Given the description of an element on the screen output the (x, y) to click on. 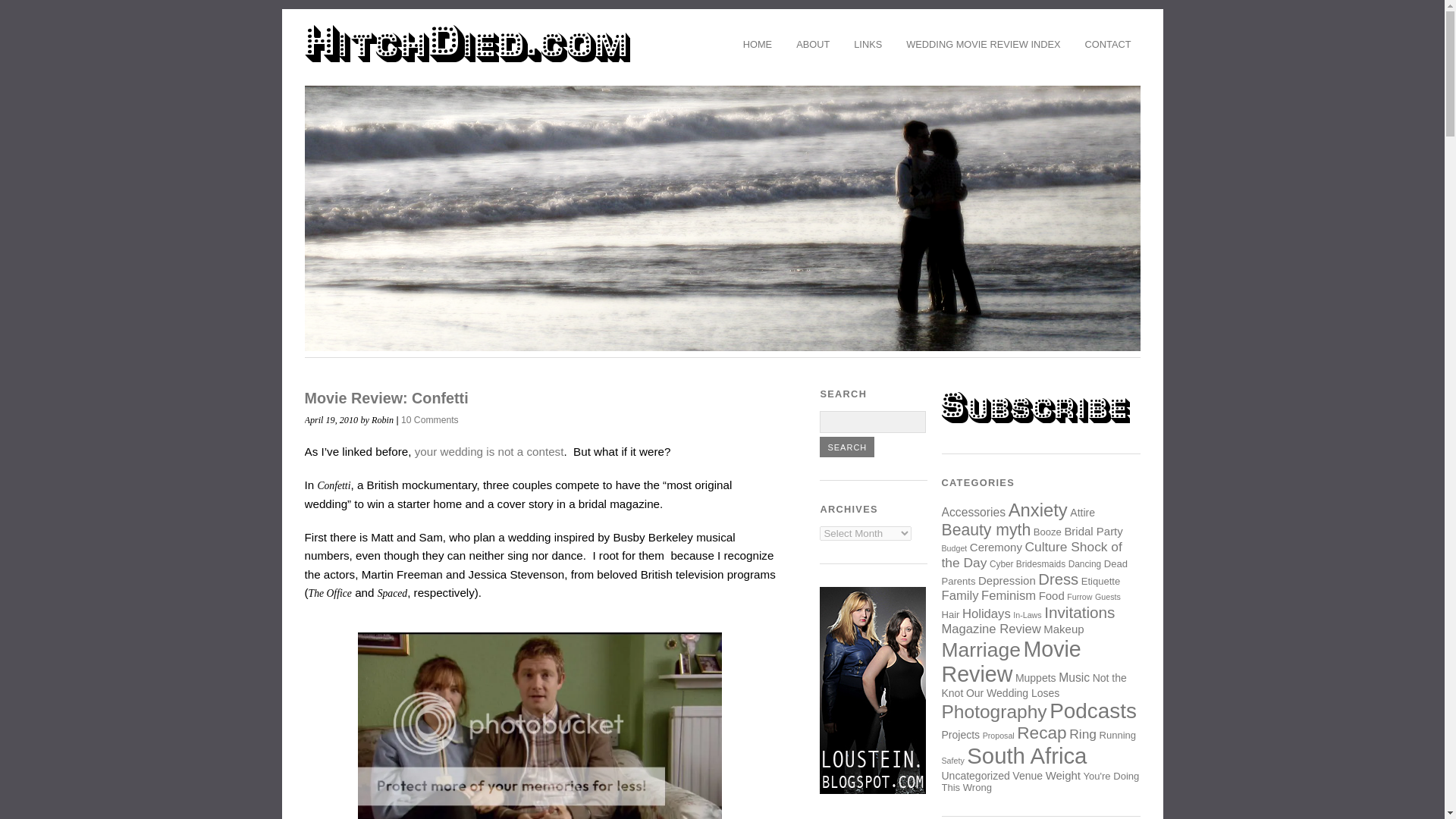
HOME (756, 43)
ABOUT (812, 43)
LINKS (867, 43)
your wedding is not a contest (489, 451)
Search (847, 446)
WEDDING MOVIE REVIEW INDEX (982, 43)
27 topics (1038, 509)
Search (847, 446)
Home (756, 43)
10 Comments (429, 419)
